Given the description of an element on the screen output the (x, y) to click on. 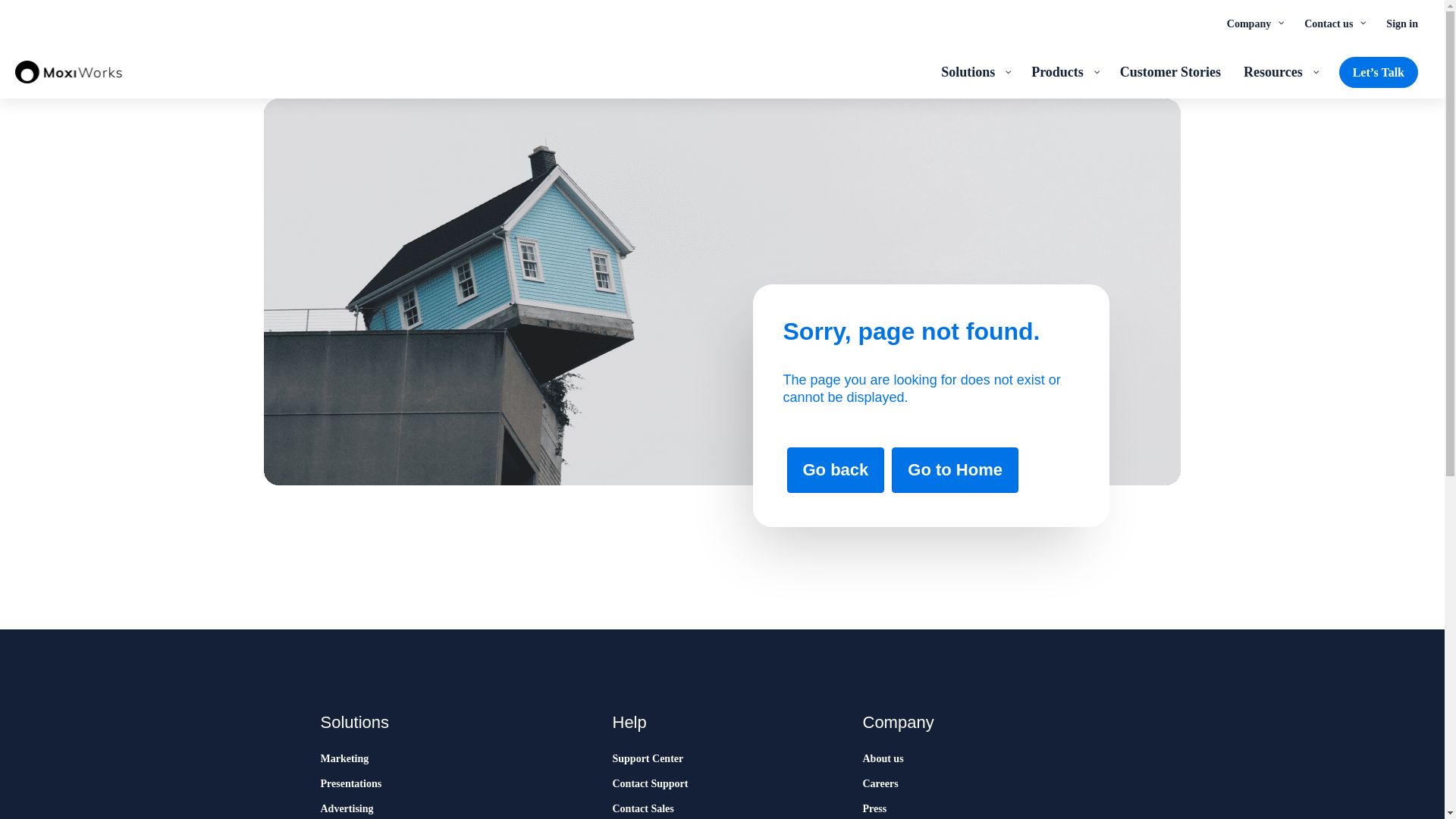
Sign in (1401, 22)
Solutions (975, 72)
Contact us (1333, 22)
Company (1253, 22)
Products (1064, 72)
